Given the description of an element on the screen output the (x, y) to click on. 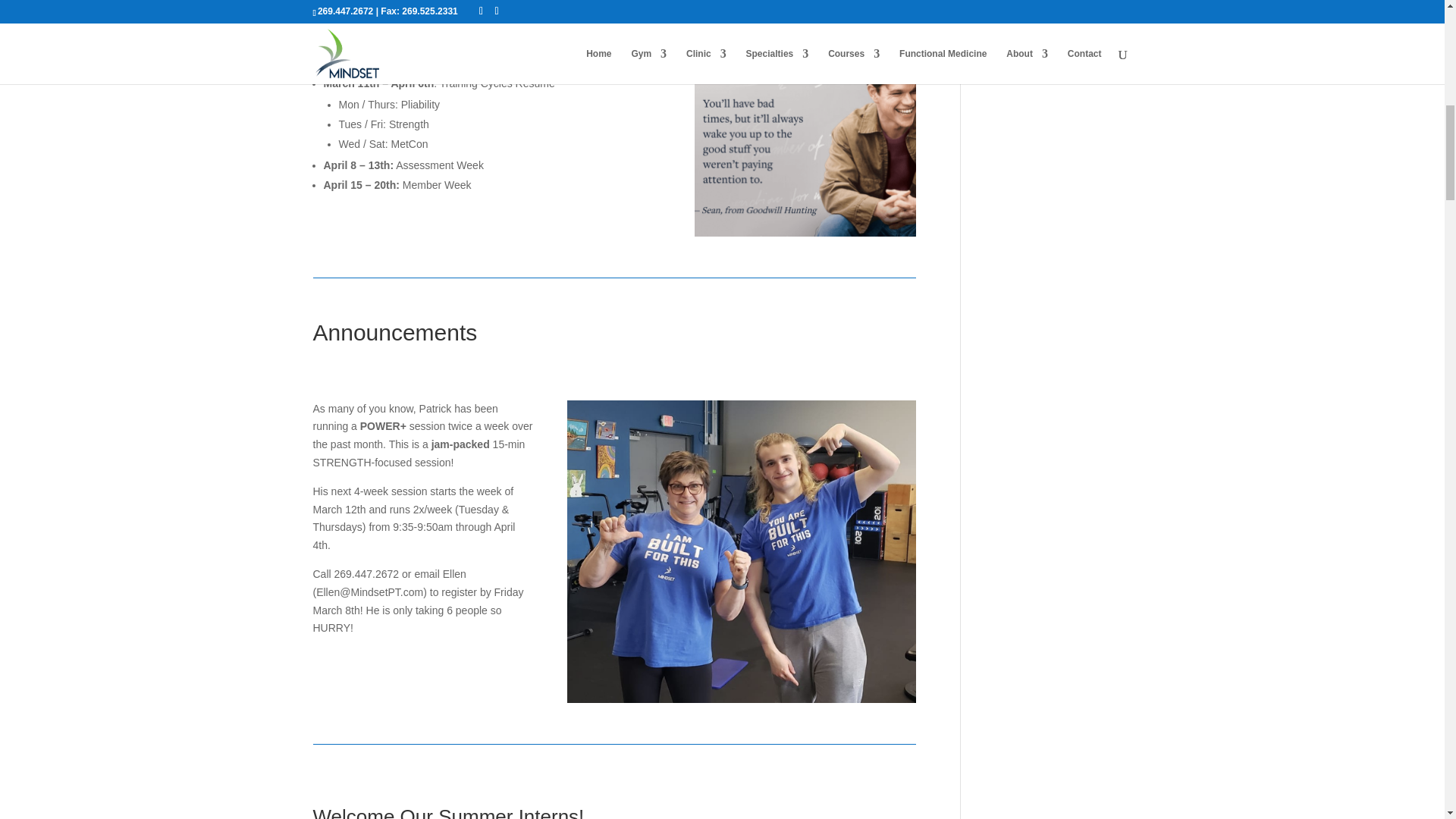
Goodwill (804, 144)
